Given the description of an element on the screen output the (x, y) to click on. 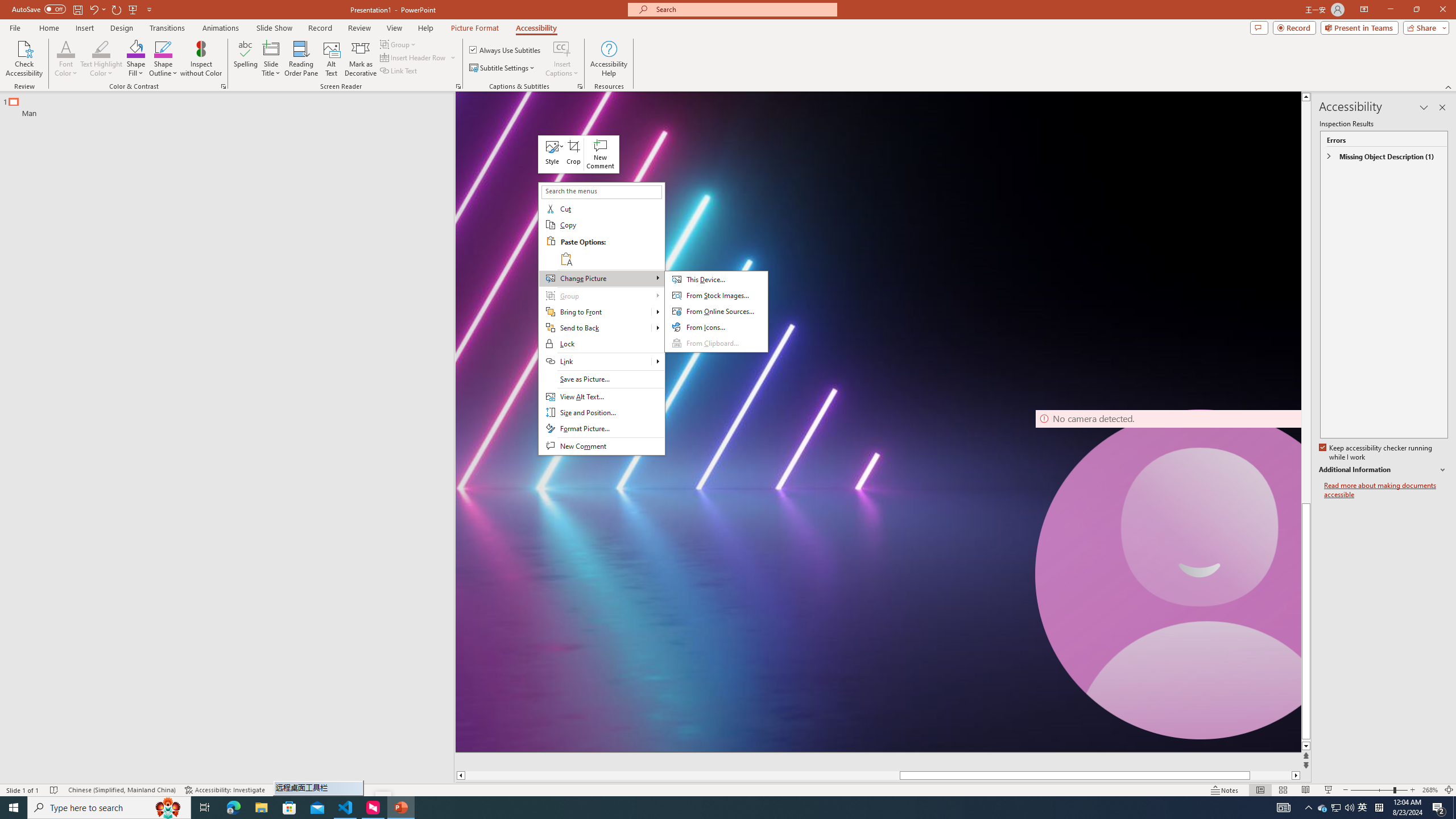
Change Picture (715, 311)
Crop (573, 154)
View Alt Text... (600, 396)
Captions & Subtitles (580, 85)
